Given the description of an element on the screen output the (x, y) to click on. 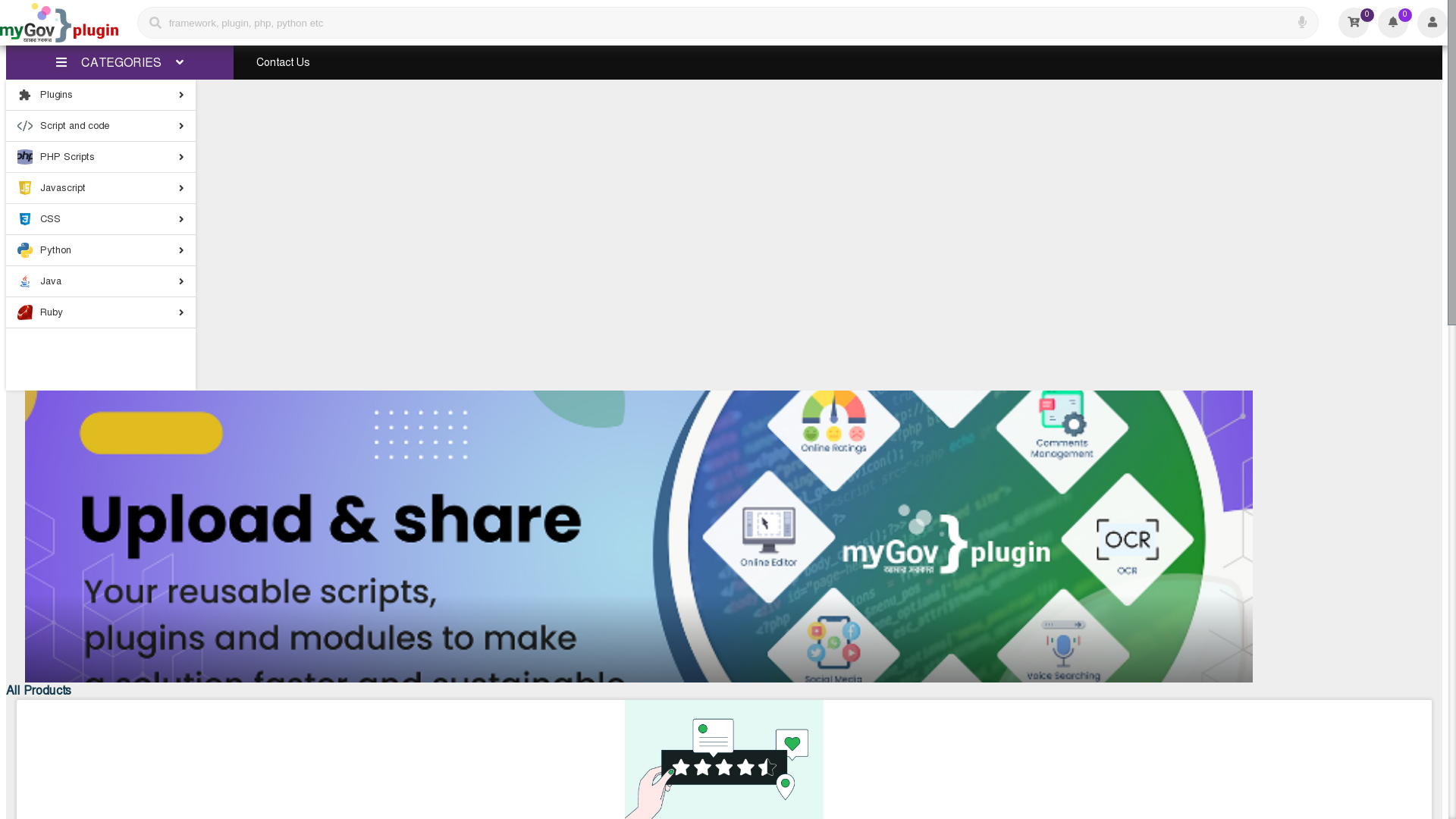
Ruby Element type: hover (24, 312)
Homepage Banner Element type: hover (638, 536)
Script and code Element type: text (100, 125)
CSS Element type: hover (24, 218)
Javascript Element type: hover (24, 187)
Python Element type: text (100, 250)
Java Element type: hover (24, 280)
CSS Element type: text (100, 219)
PHP Scripts Element type: text (100, 156)
Plugins Element type: hover (24, 94)
Ruby Element type: text (100, 312)
Script and code Element type: hover (24, 125)
Plugins Element type: text (100, 94)
Java Element type: text (100, 281)
Javascript Element type: text (100, 187)
Contact Us Element type: text (282, 62)
PHP Scripts Element type: hover (24, 156)
Python Element type: hover (24, 249)
